Given the description of an element on the screen output the (x, y) to click on. 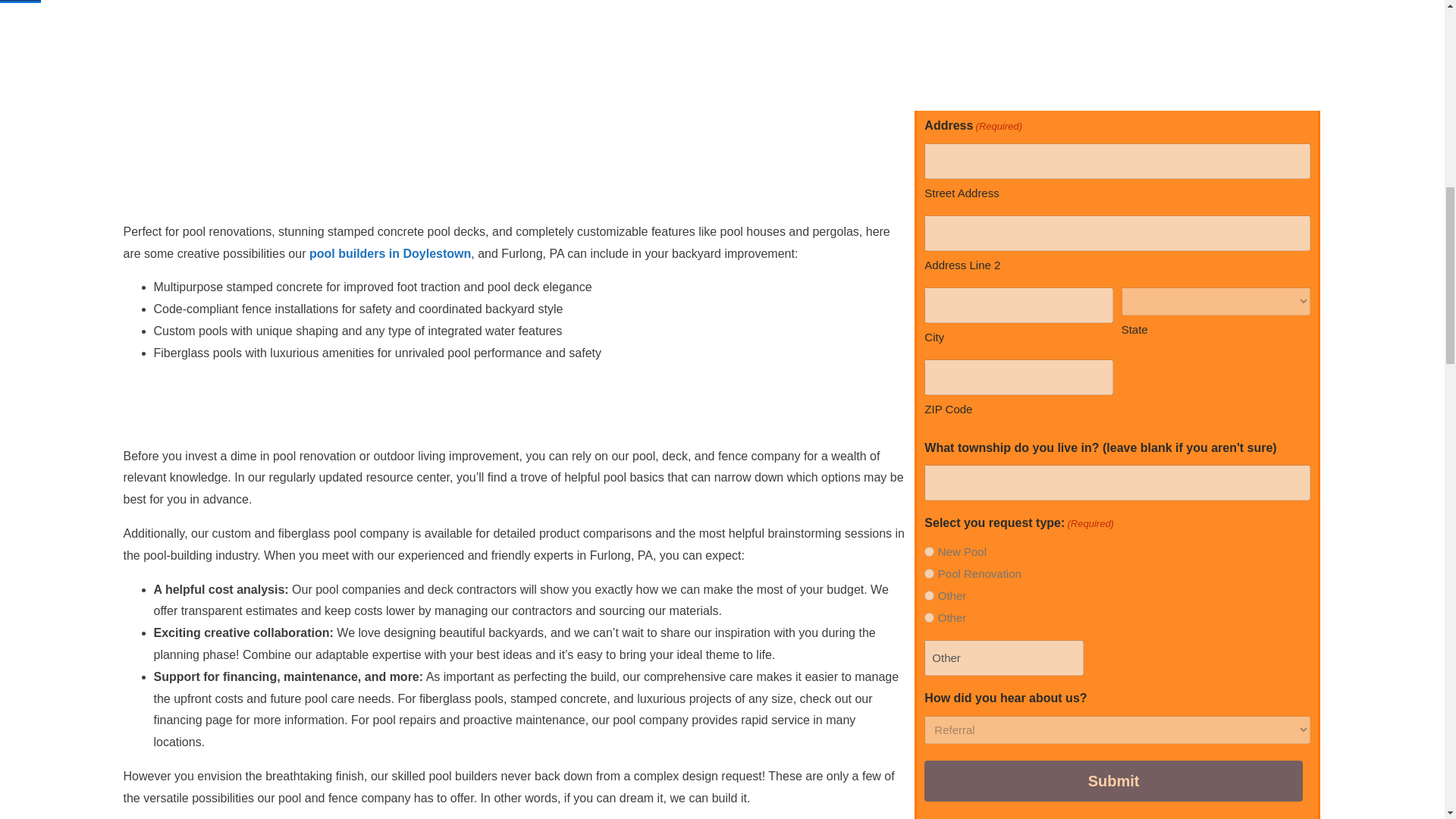
Other (929, 595)
Other (1003, 657)
New Pool (929, 551)
Pool Renovation (929, 573)
Submit (1112, 780)
